Given the description of an element on the screen output the (x, y) to click on. 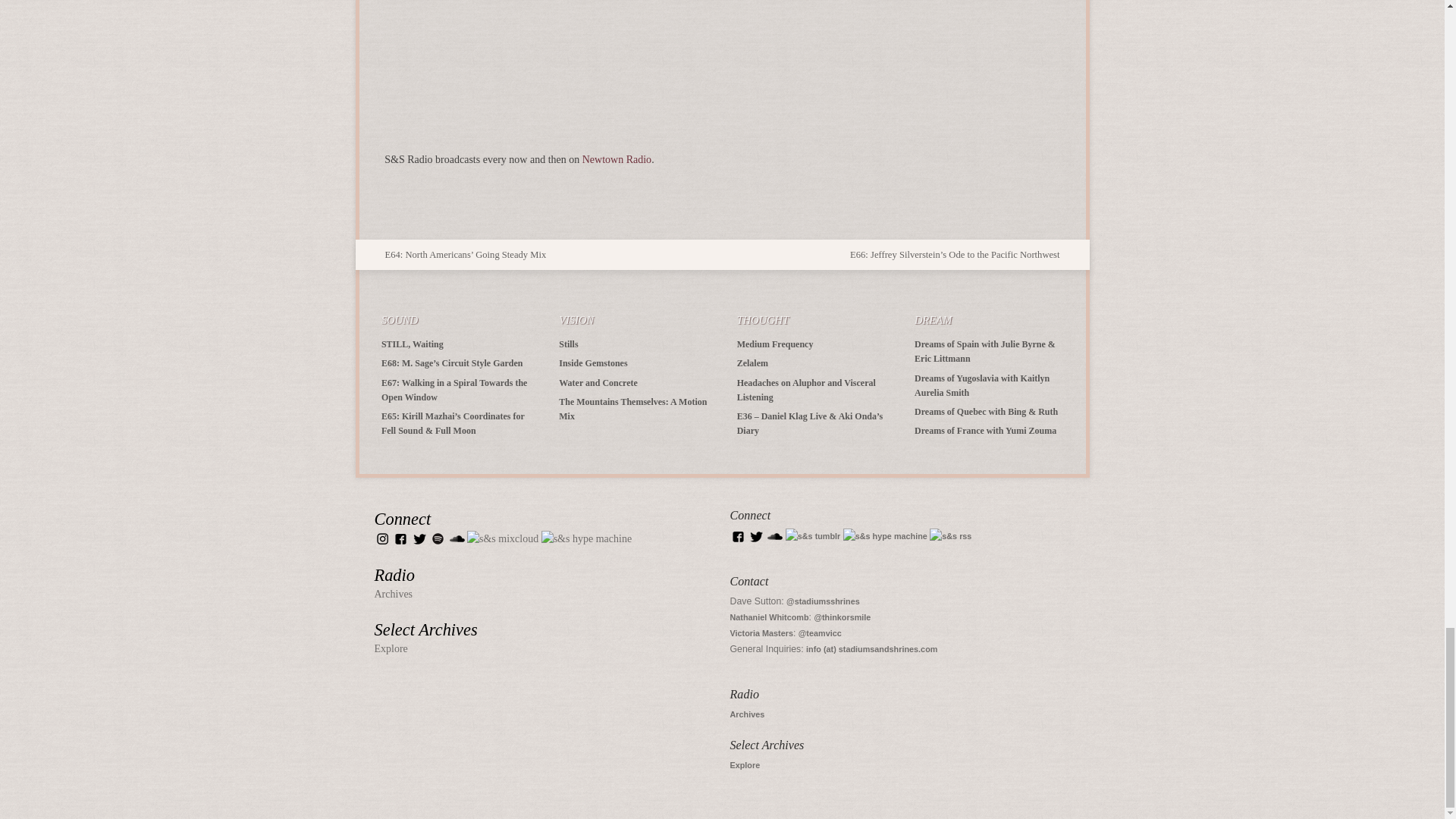
Permanent link to STILL, Waiting (412, 344)
Permanent link to Stills (568, 344)
Permanent link to Water and Concrete (598, 382)
Permanent link to Medium Frequency (774, 344)
Newtown Radio (616, 159)
Permanent link to The Mountains Themselves: A Motion Mix (632, 408)
Permanent link to Zelalem (752, 362)
E67: Walking in a Spiral Towards the Open Window (454, 389)
Permanent link to Inside Gemstones (593, 362)
STILL, Waiting (412, 344)
